Given the description of an element on the screen output the (x, y) to click on. 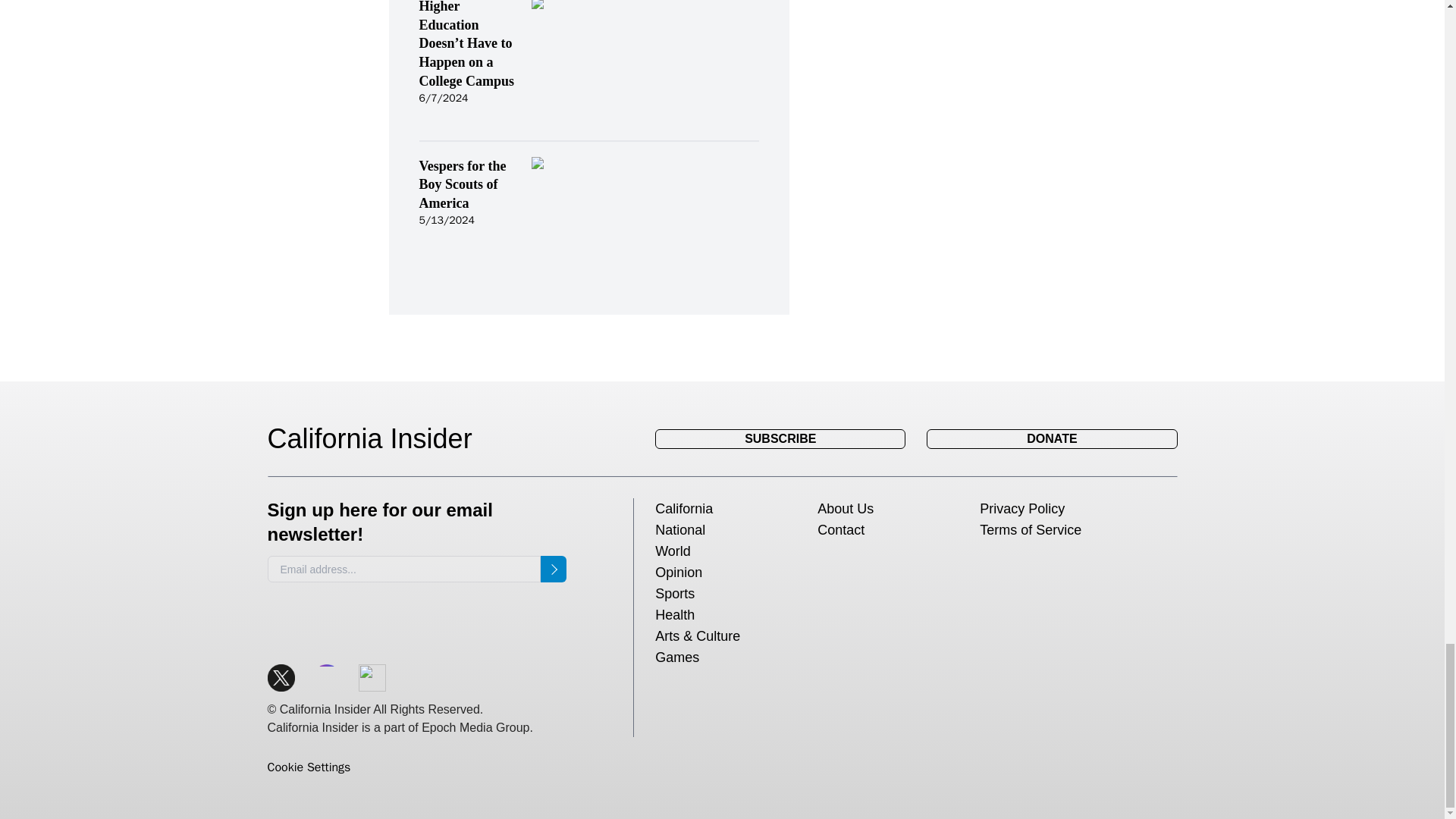
Games (676, 657)
Sports (674, 593)
California Insider (380, 439)
DONATE (1051, 438)
Health (674, 614)
National (679, 529)
Contact (840, 529)
World (672, 550)
SUBSCRIBE (780, 438)
Vespers for the Boy Scouts of America (467, 184)
